Given the description of an element on the screen output the (x, y) to click on. 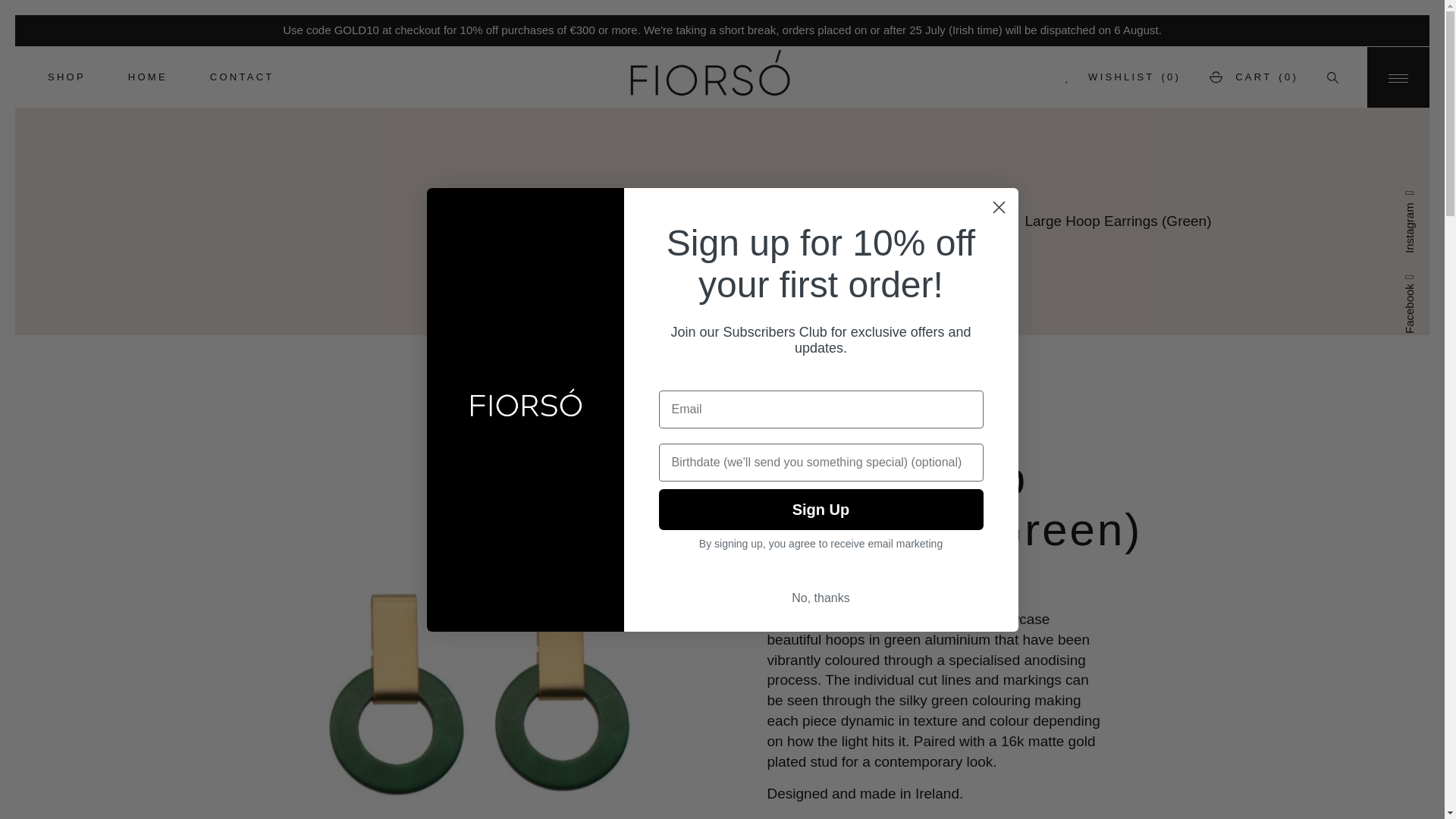
Close dialog 1 (998, 207)
CONTACT (242, 76)
View Wishlist (1122, 76)
